Given the description of an element on the screen output the (x, y) to click on. 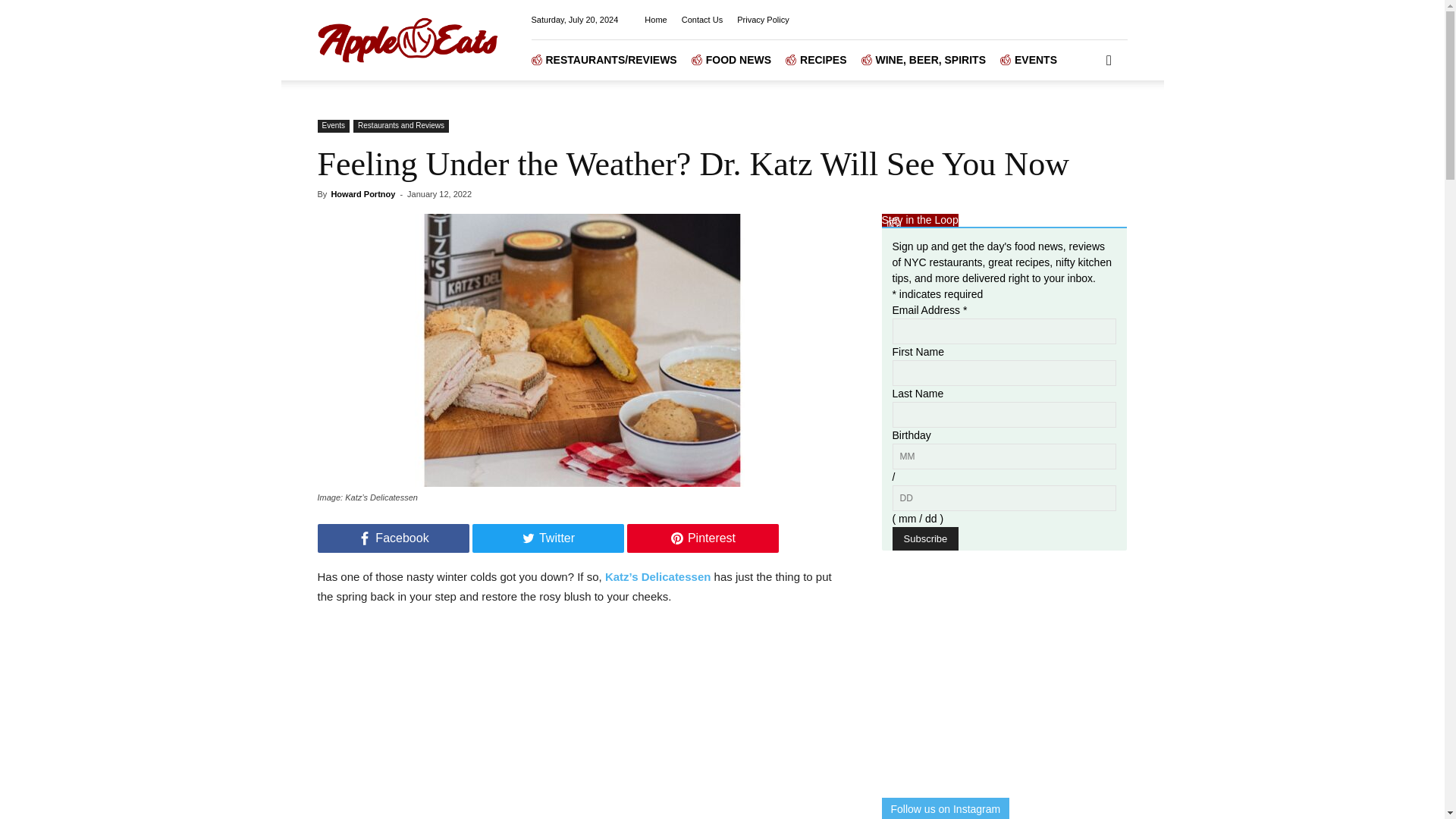
Pinterest (701, 538)
Search (1085, 122)
Subscribe (924, 538)
Twitter (547, 538)
RECIPES (823, 60)
3rd party ad content (994, 674)
Facebook (392, 538)
EVENTS (1035, 60)
3rd party ad content (580, 720)
Restaurants and Reviews (400, 125)
Contact Us (701, 19)
Apple Eats: New York City NYC Food News (407, 40)
Events (333, 125)
Home (655, 19)
